Given the description of an element on the screen output the (x, y) to click on. 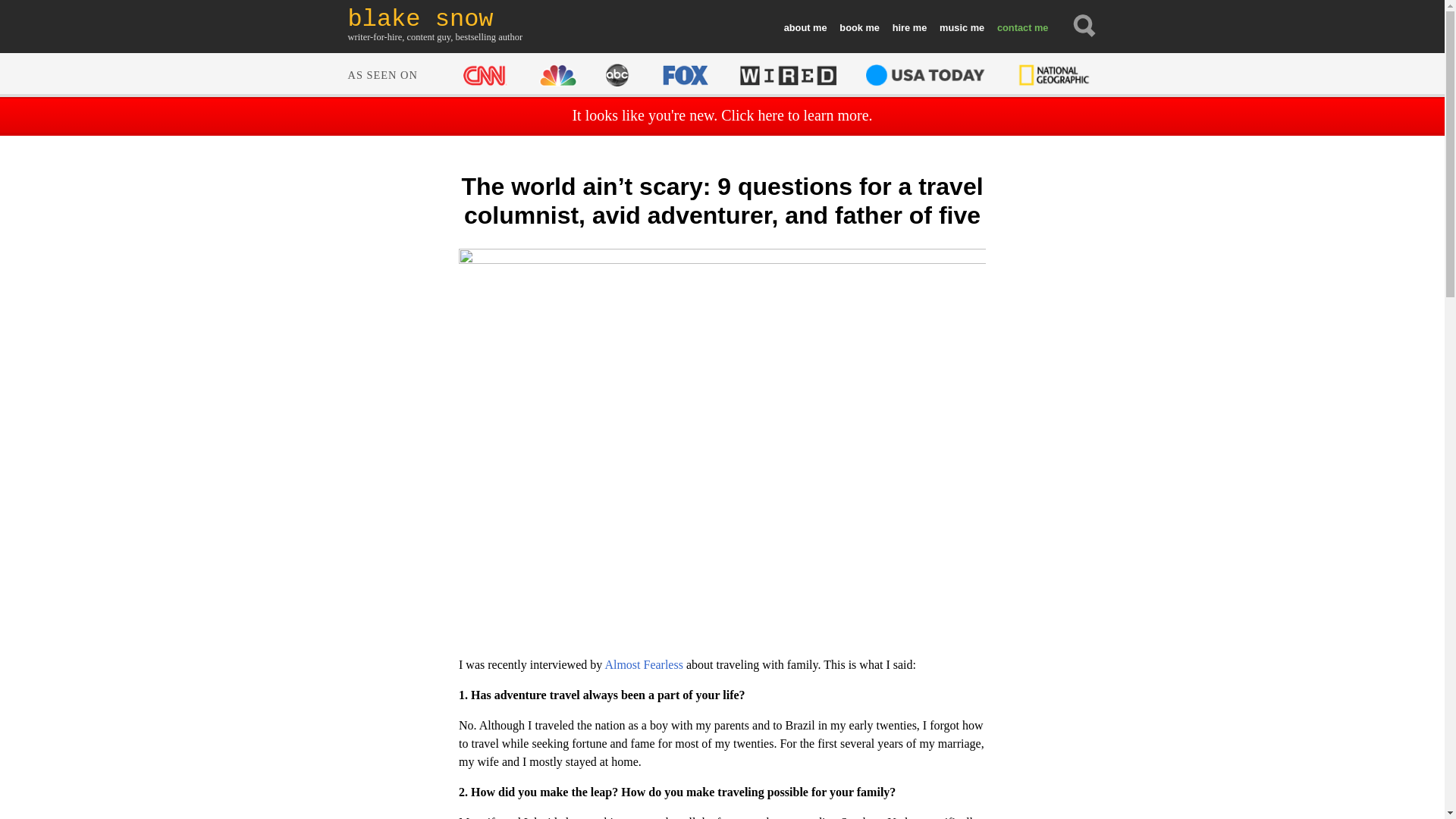
Almost Fearless (643, 664)
blake snow (434, 18)
hire (908, 28)
music (962, 28)
book (858, 28)
about (804, 28)
Blake Snow (434, 18)
AS SEEN ON (719, 73)
contact (1020, 28)
